Given the description of an element on the screen output the (x, y) to click on. 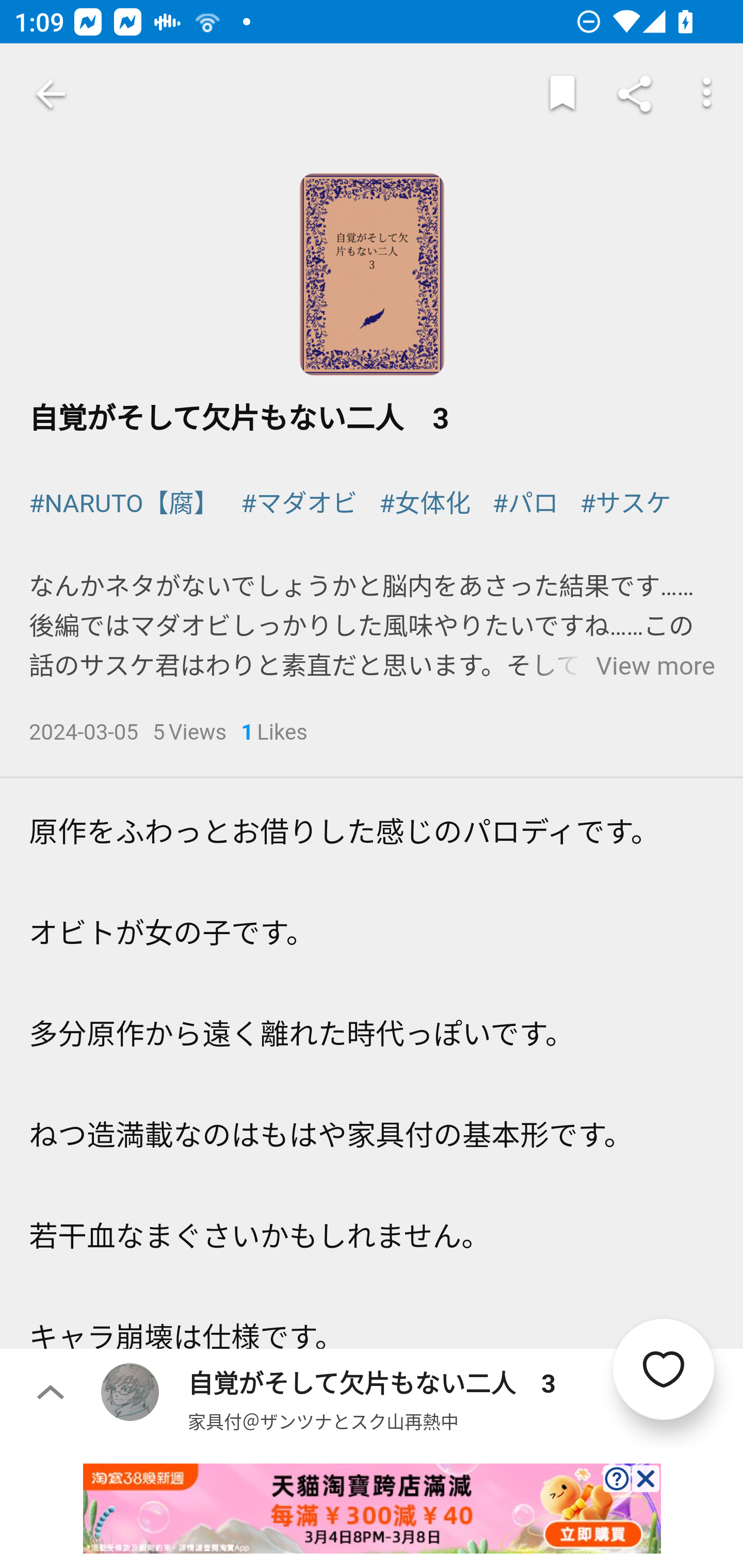
Navigate up (50, 93)
Markers (562, 93)
Share (634, 93)
More options (706, 93)
#NARUTO【腐】 (124, 503)
#マダオビ (298, 503)
#女体化 (424, 503)
#パロ (525, 503)
#サスケ (625, 503)
View more (654, 666)
1Likes (273, 733)
家具付＠ザンツナとスク山再熱中 (322, 1421)
pvdv44x_1709289450738_0 (371, 1507)
